Given the description of an element on the screen output the (x, y) to click on. 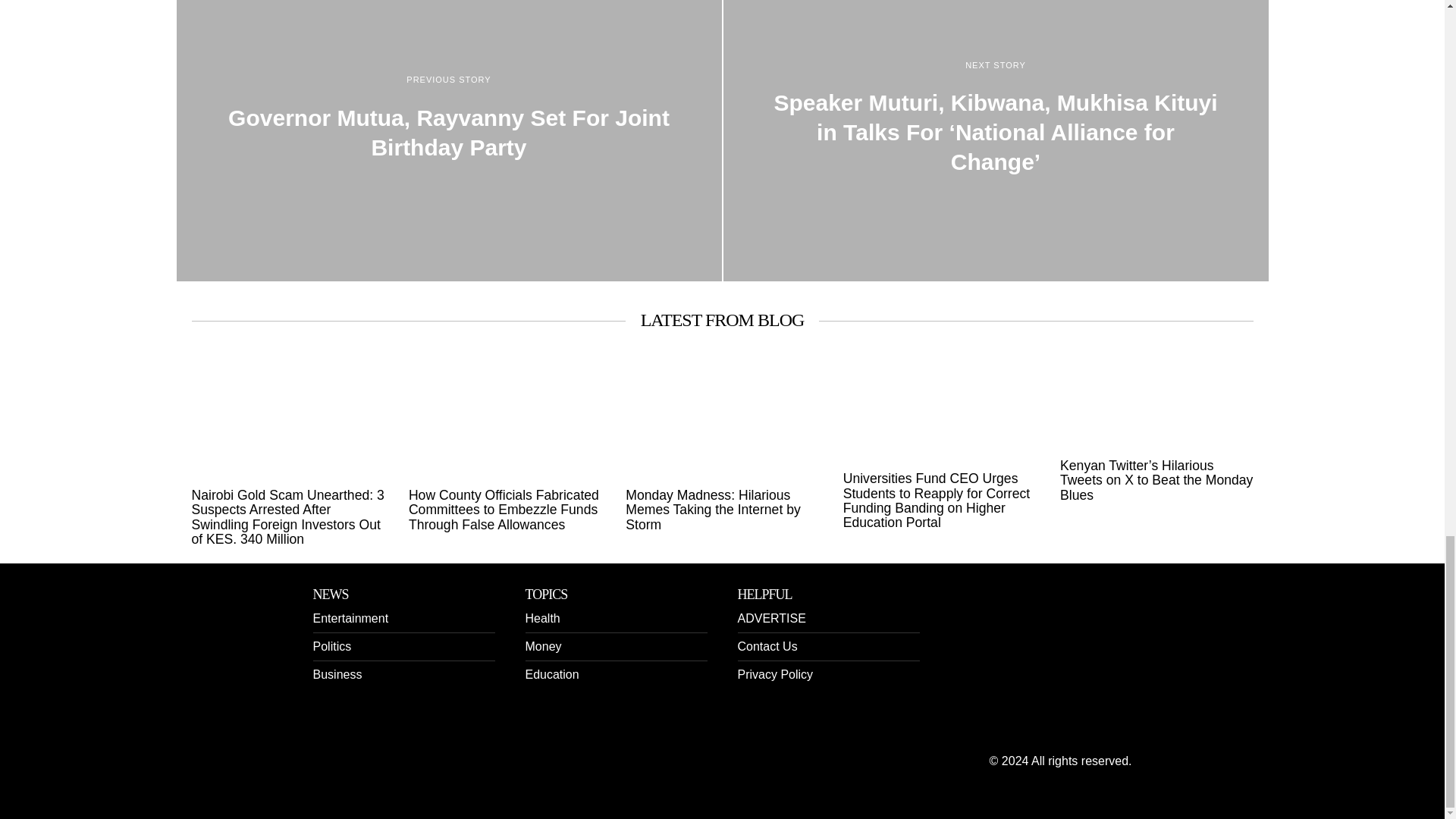
Politics (331, 645)
Monday Madness: Hilarious Memes Taking the Internet by Storm (722, 510)
Entertainment (350, 617)
Business (337, 674)
Health (541, 617)
